Given the description of an element on the screen output the (x, y) to click on. 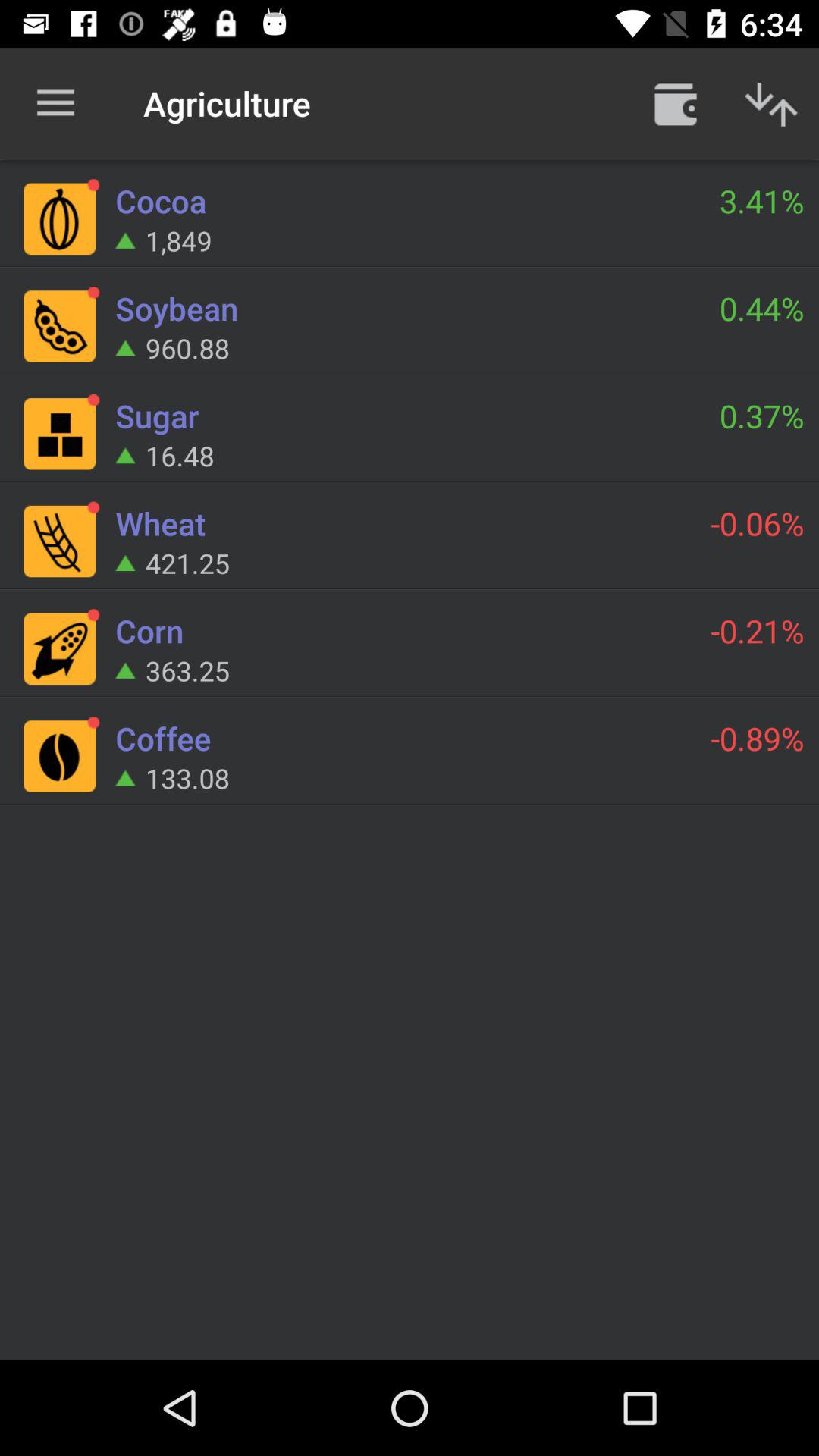
change position (771, 103)
